Given the description of an element on the screen output the (x, y) to click on. 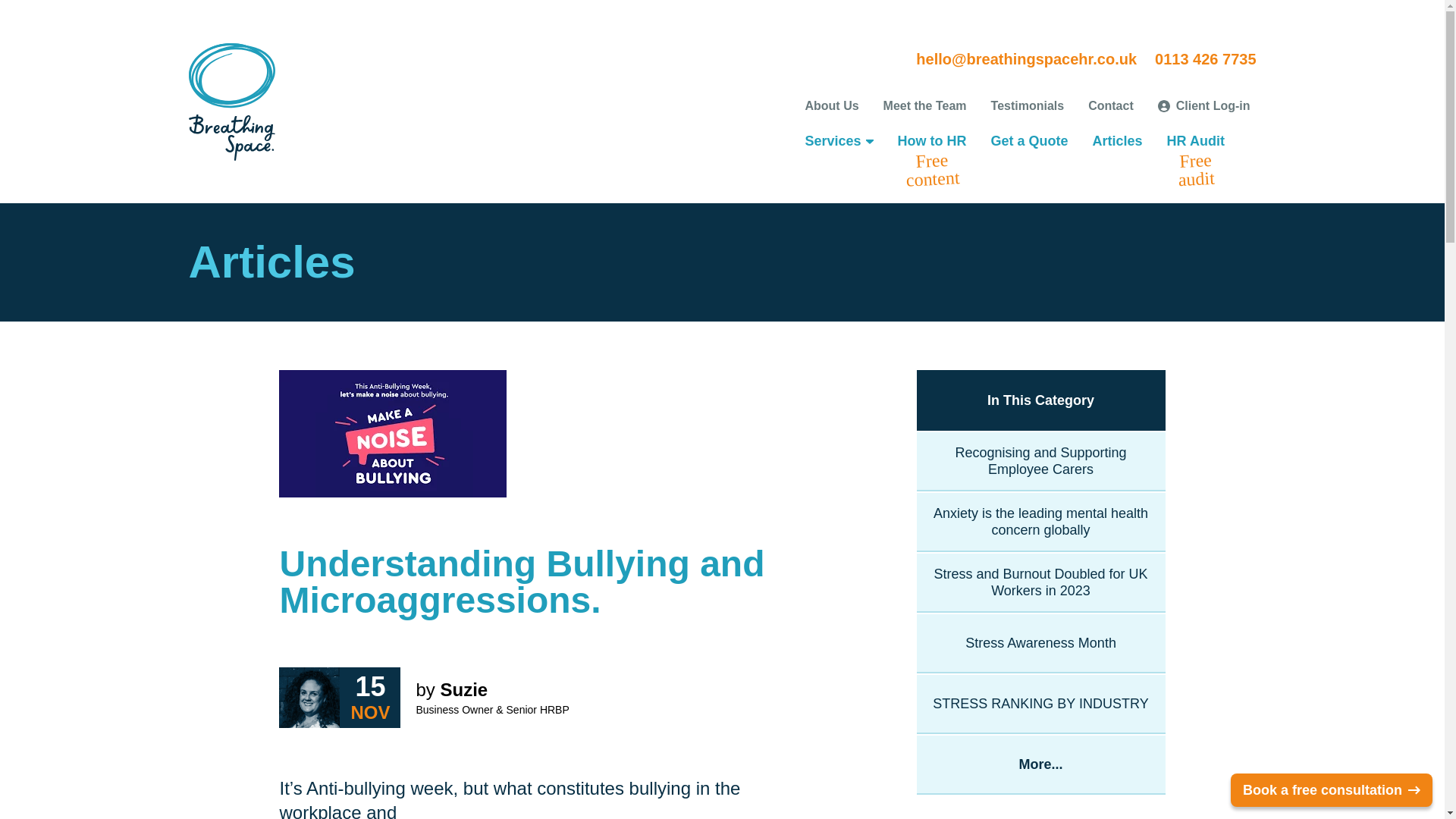
Anxiety is the leading mental health concern globally (1041, 521)
STRESS RANKING BY INDUSTRY (1041, 703)
More... (1041, 764)
About Us (830, 105)
Meet the Team (924, 105)
0113 426 7735 (1204, 58)
Services (834, 140)
Get a Quote (1029, 140)
Articles (1195, 140)
